Given the description of an element on the screen output the (x, y) to click on. 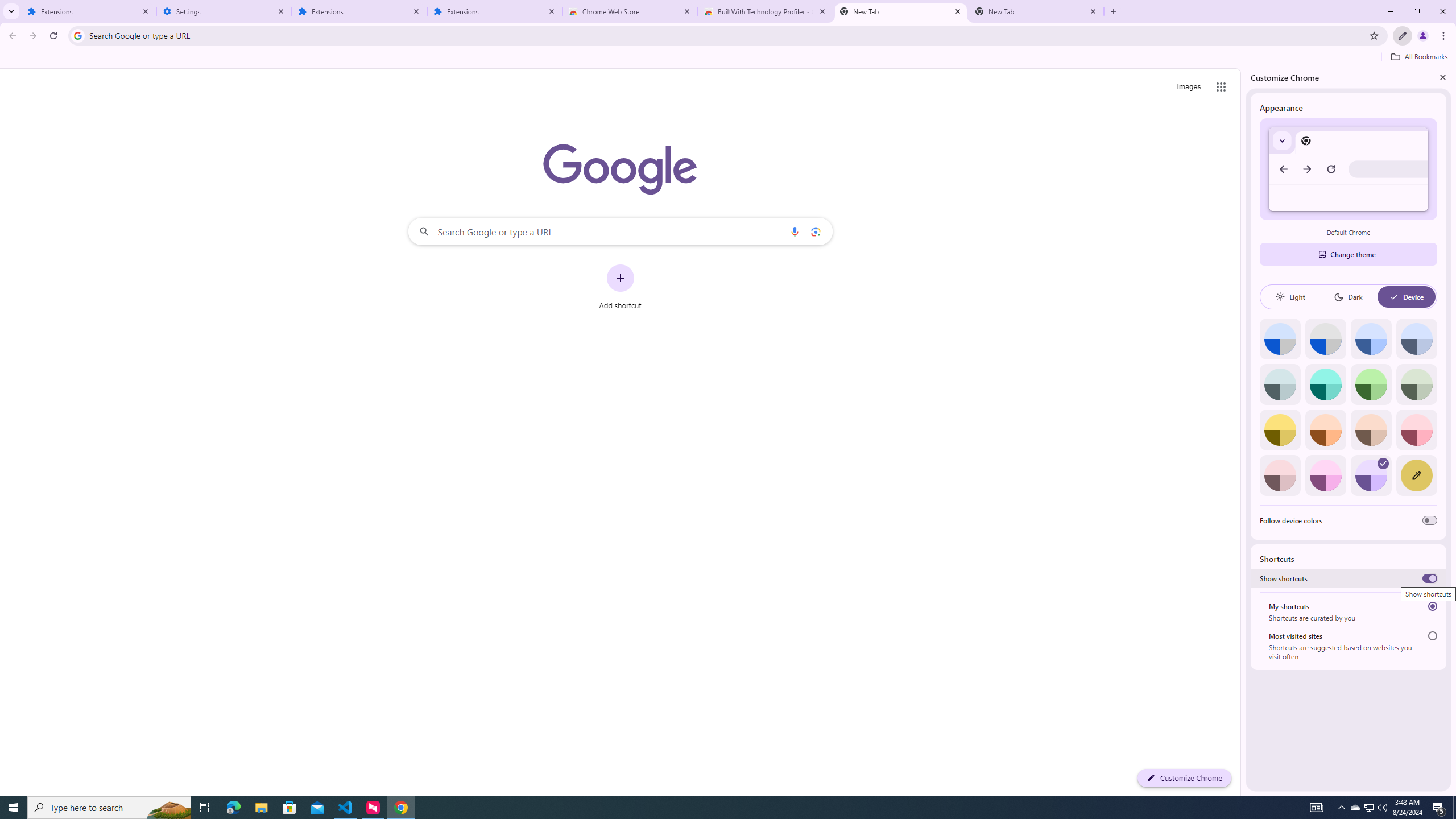
Citron (1279, 429)
Blue (1371, 338)
Add shortcut (620, 287)
Default color (1279, 338)
System (6, 6)
You (1422, 35)
Search by voice (794, 230)
All Bookmarks (1418, 56)
Default Chrome (1348, 169)
Address and search bar (725, 35)
System (6, 6)
Fuchsia (1325, 475)
Extensions (494, 11)
Follow device colors (1429, 519)
